Given the description of an element on the screen output the (x, y) to click on. 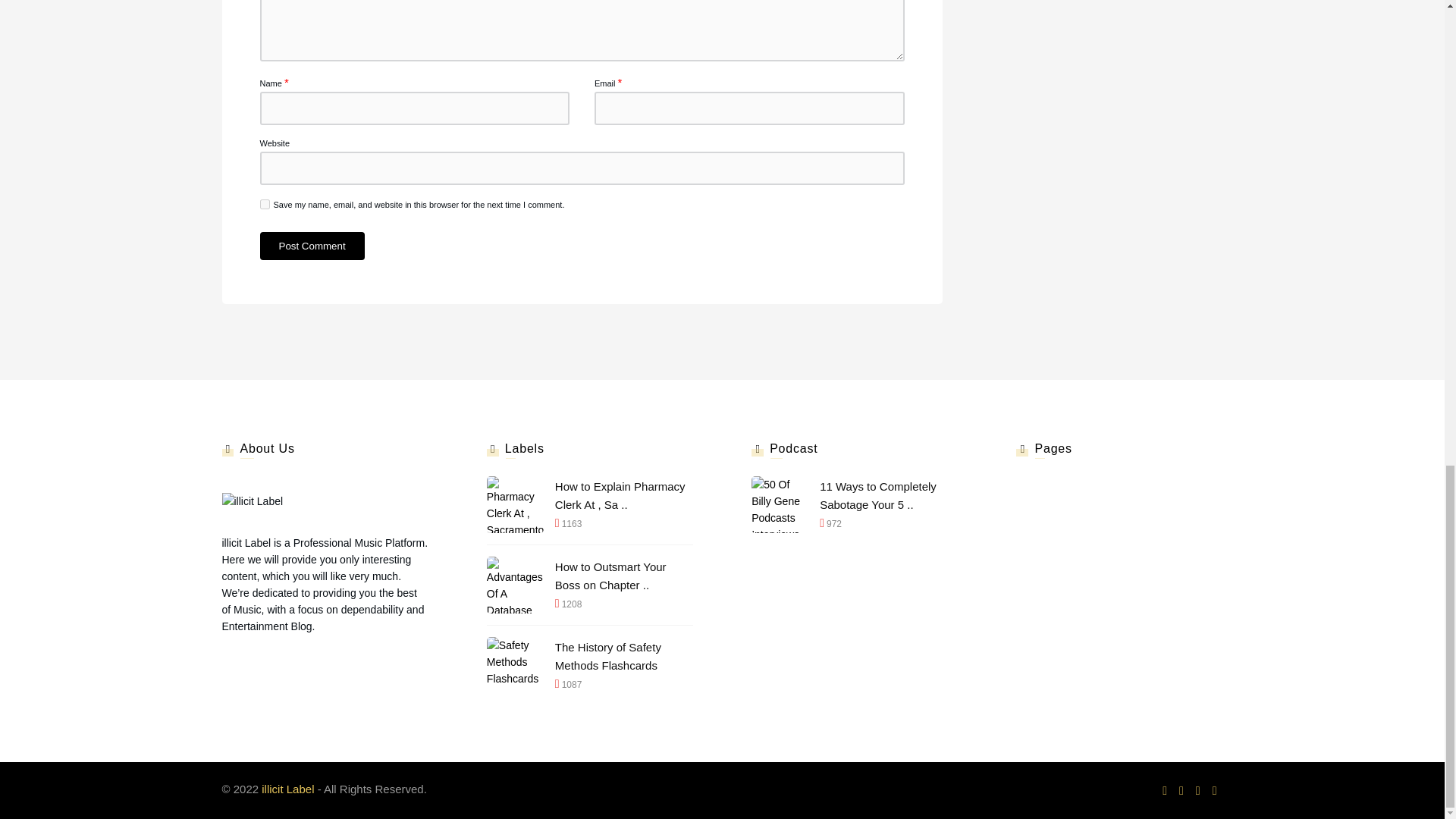
Post Comment (311, 245)
yes (264, 204)
Post Comment (311, 245)
